Given the description of an element on the screen output the (x, y) to click on. 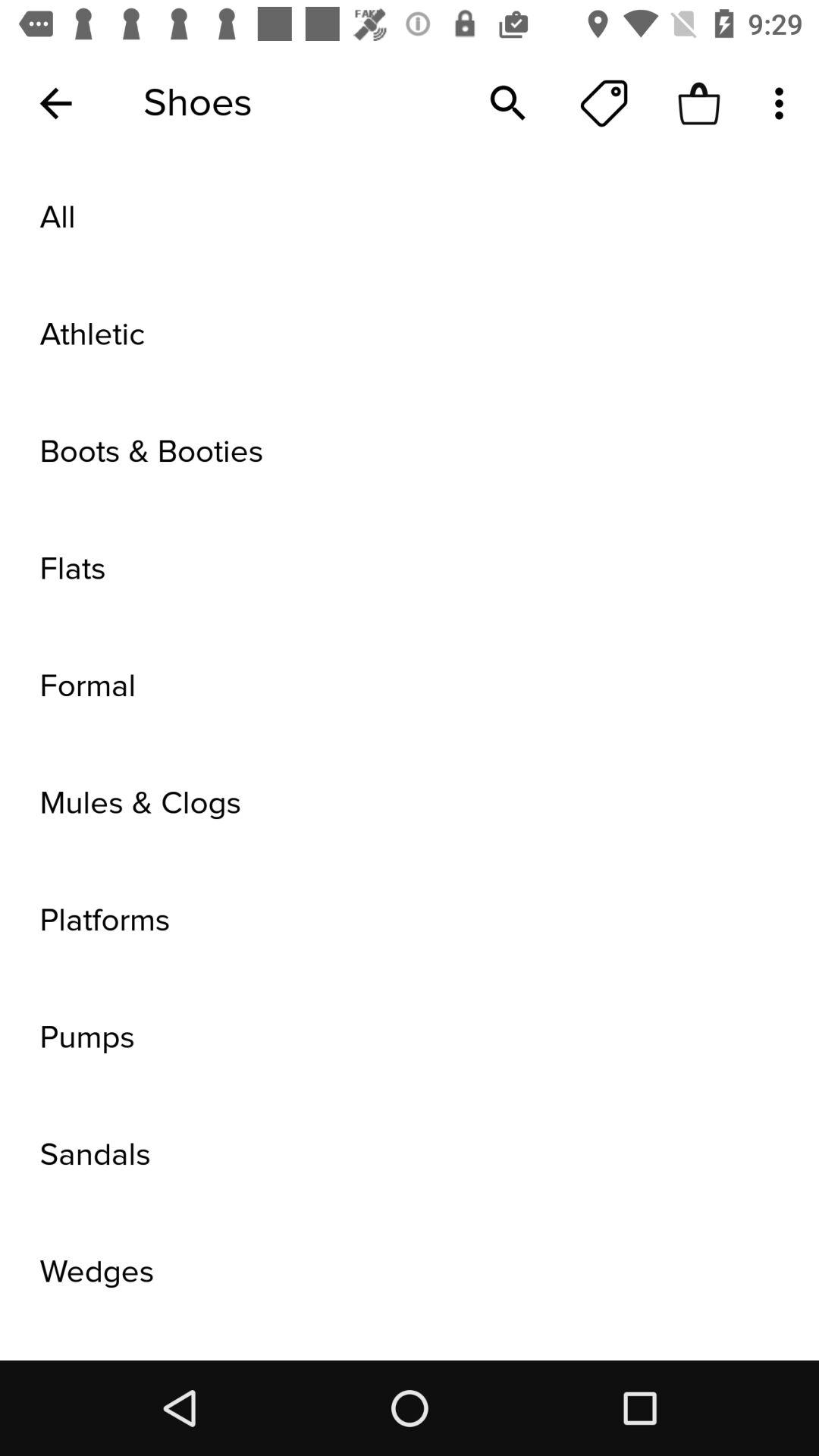
select the wedges (409, 1271)
